Given the description of an element on the screen output the (x, y) to click on. 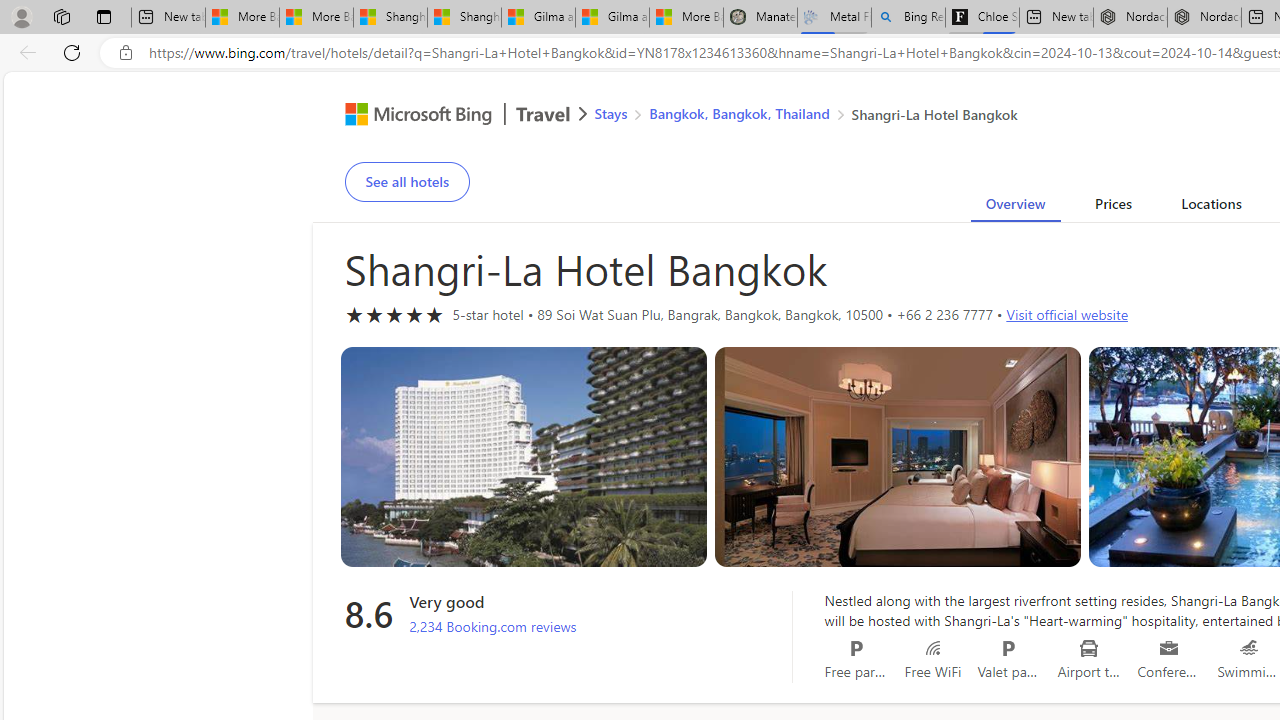
Valet parking (1008, 647)
Microsoft Bing (410, 116)
Bing Real Estate - Home sales and rental listings (907, 17)
Manatee Mortality Statistics | FWC (760, 17)
Conference rooms (1168, 647)
Stays (610, 112)
Visit official website (1066, 314)
Free parking (856, 647)
Microsoft Bing Travel (445, 116)
5-star hotel  (394, 314)
